Given the description of an element on the screen output the (x, y) to click on. 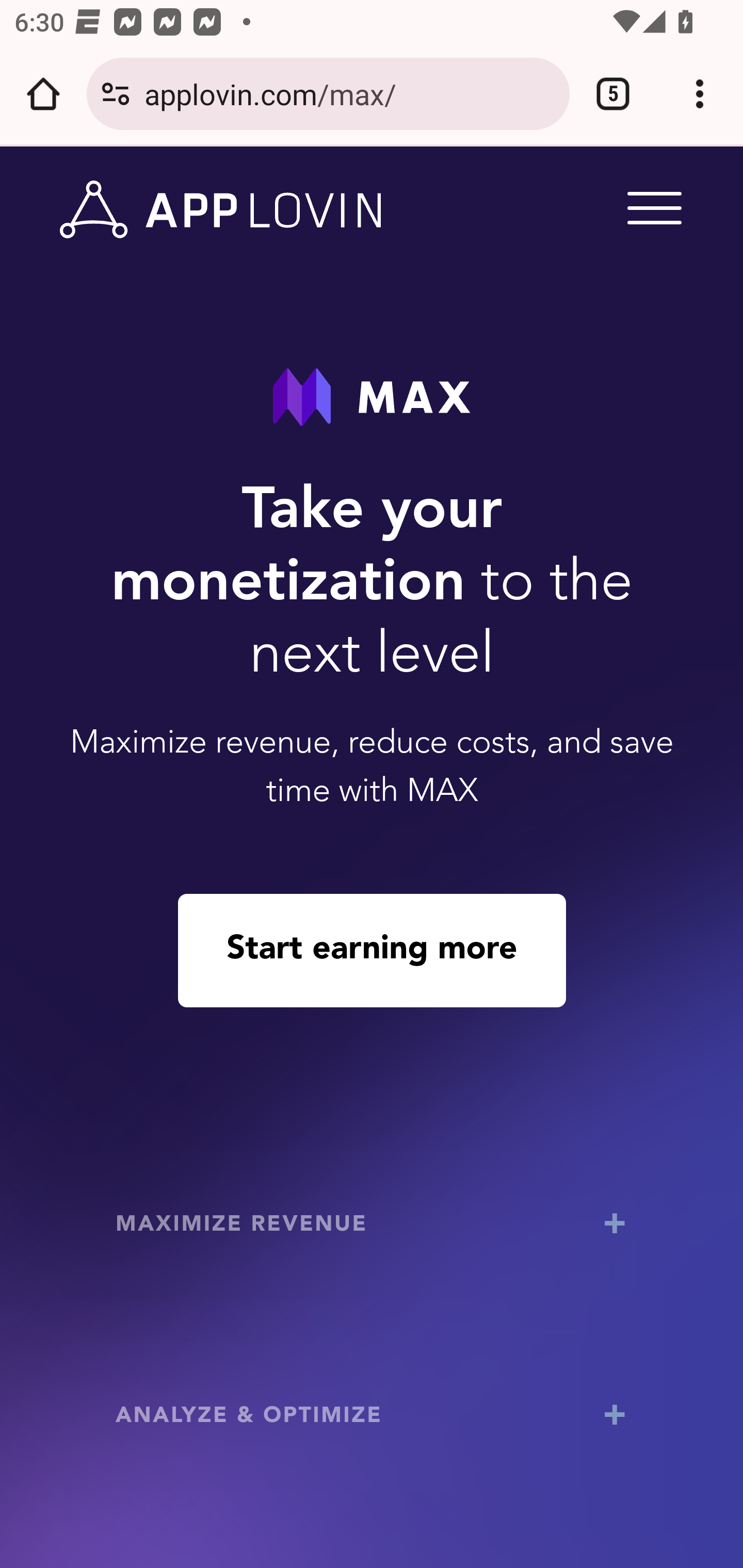
Open the home page (43, 93)
Connection is secure (115, 93)
Switch or close tabs (612, 93)
Customize and control Google Chrome (699, 93)
applovin.com/max/ (349, 92)
Menu Trigger (650, 207)
www.applovin (220, 209)
Start earning more (371, 950)
